Given the description of an element on the screen output the (x, y) to click on. 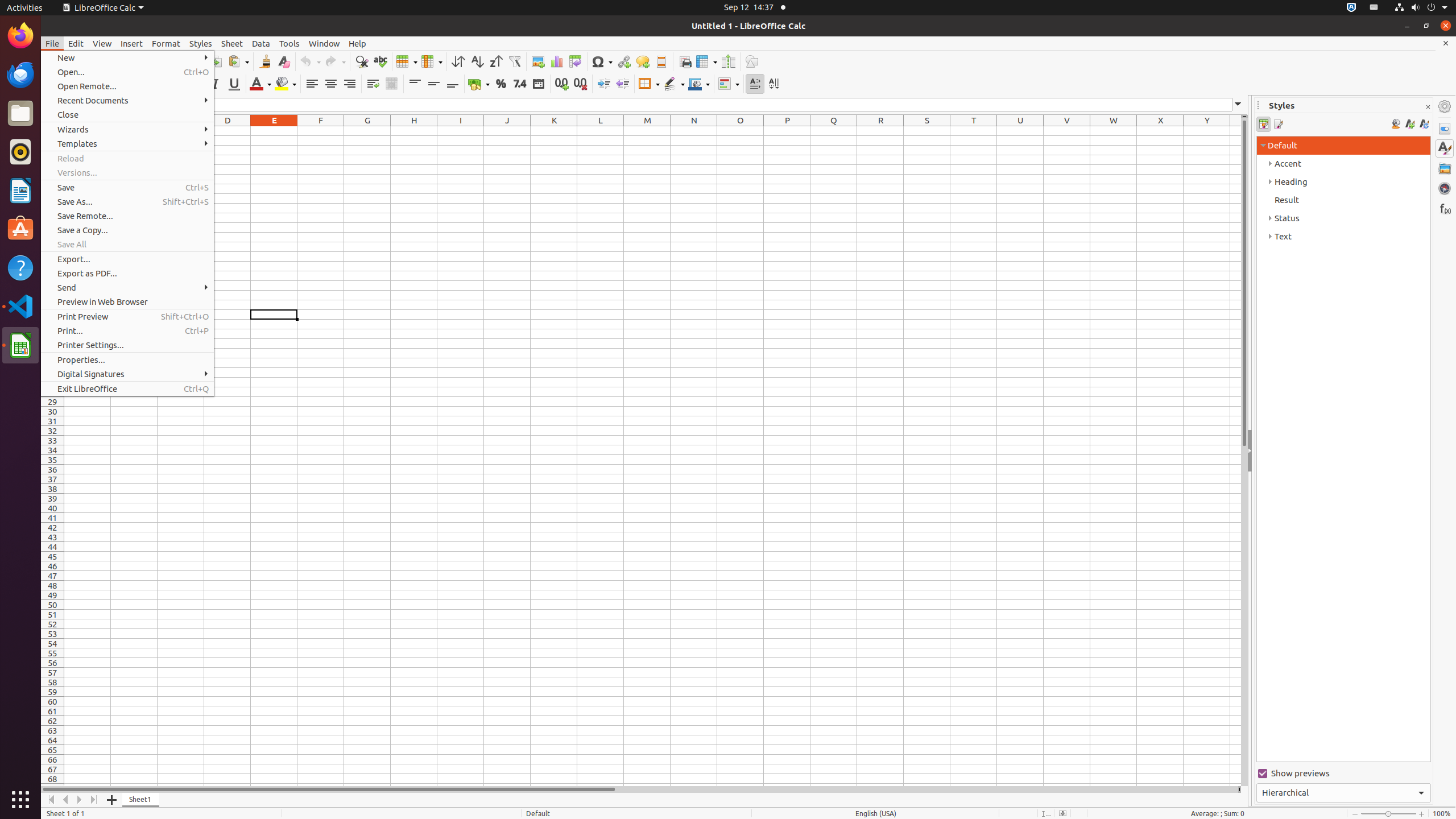
Wizards Element type: menu (126, 129)
New Element type: menu (126, 57)
E1 Element type: table-cell (273, 130)
Export as PDF... Element type: menu-item (126, 273)
Help Element type: menu (357, 43)
